Given the description of an element on the screen output the (x, y) to click on. 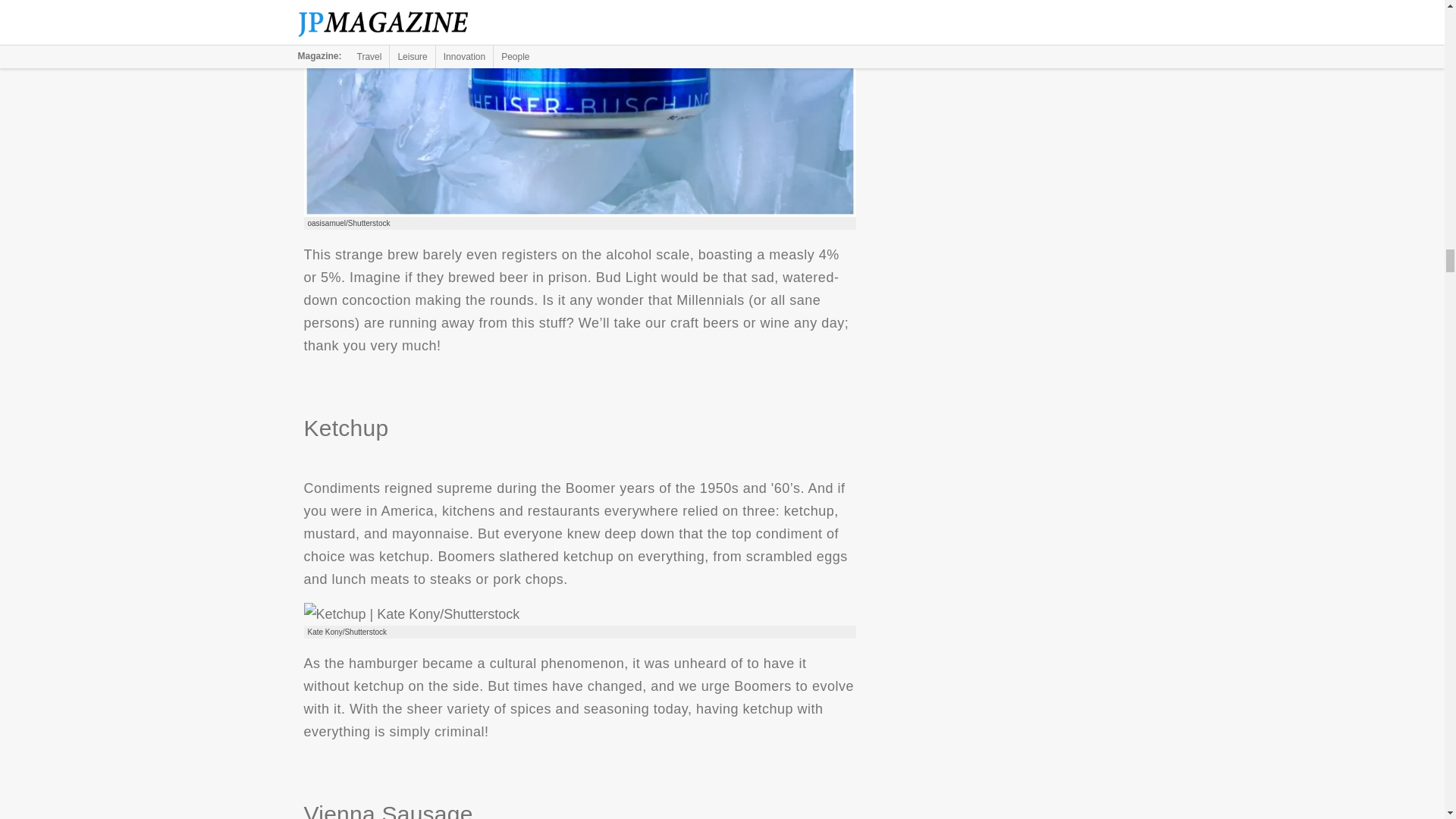
Bud Light (579, 108)
Ketchup (410, 613)
